Given the description of an element on the screen output the (x, y) to click on. 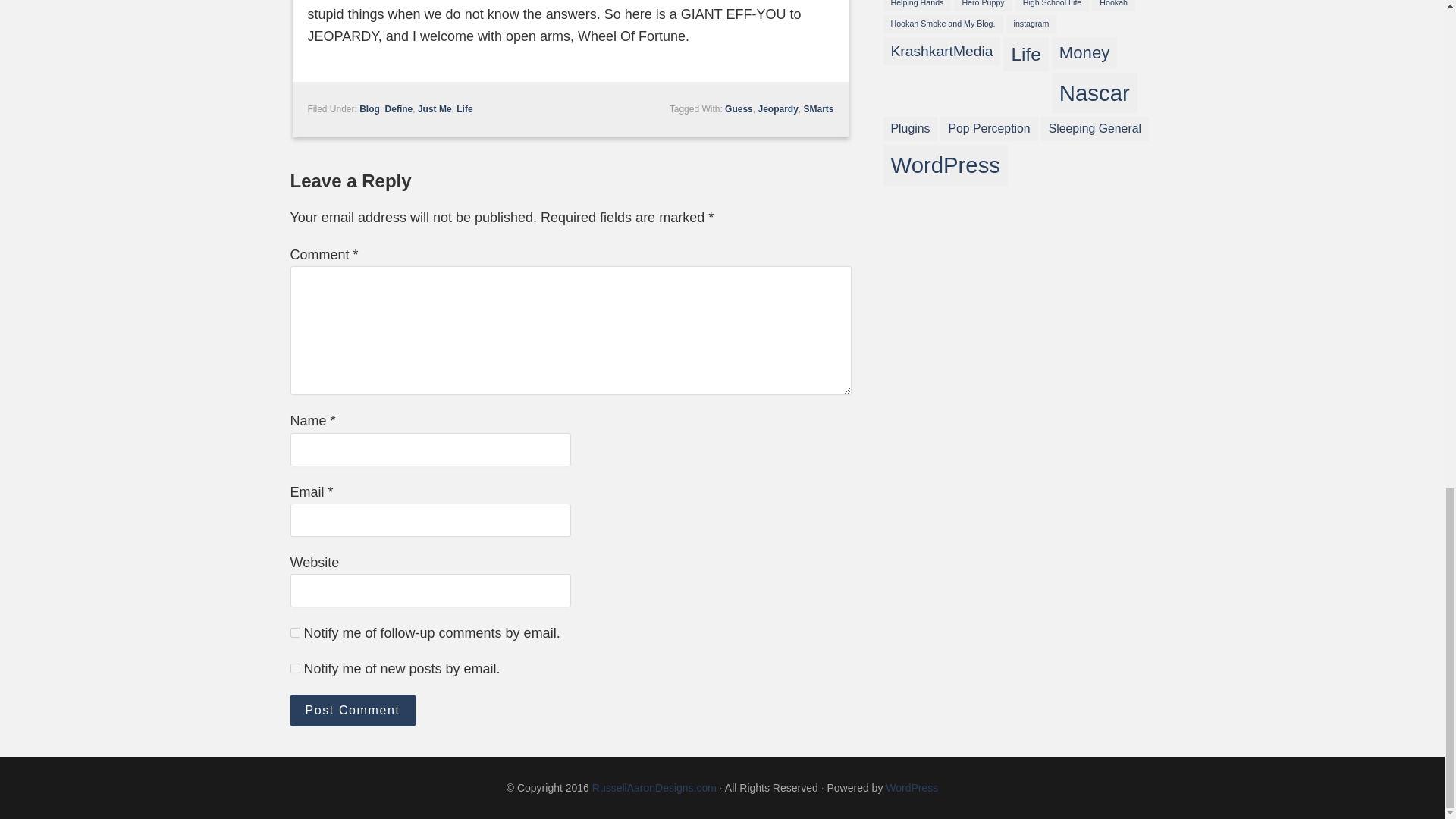
Life (464, 109)
SMarts (817, 109)
Just Me (434, 109)
Define (399, 109)
subscribe (294, 668)
Post Comment (351, 710)
subscribe (294, 633)
Blog (369, 109)
Post Comment (351, 710)
Guess (738, 109)
Jeopardy (777, 109)
